Given the description of an element on the screen output the (x, y) to click on. 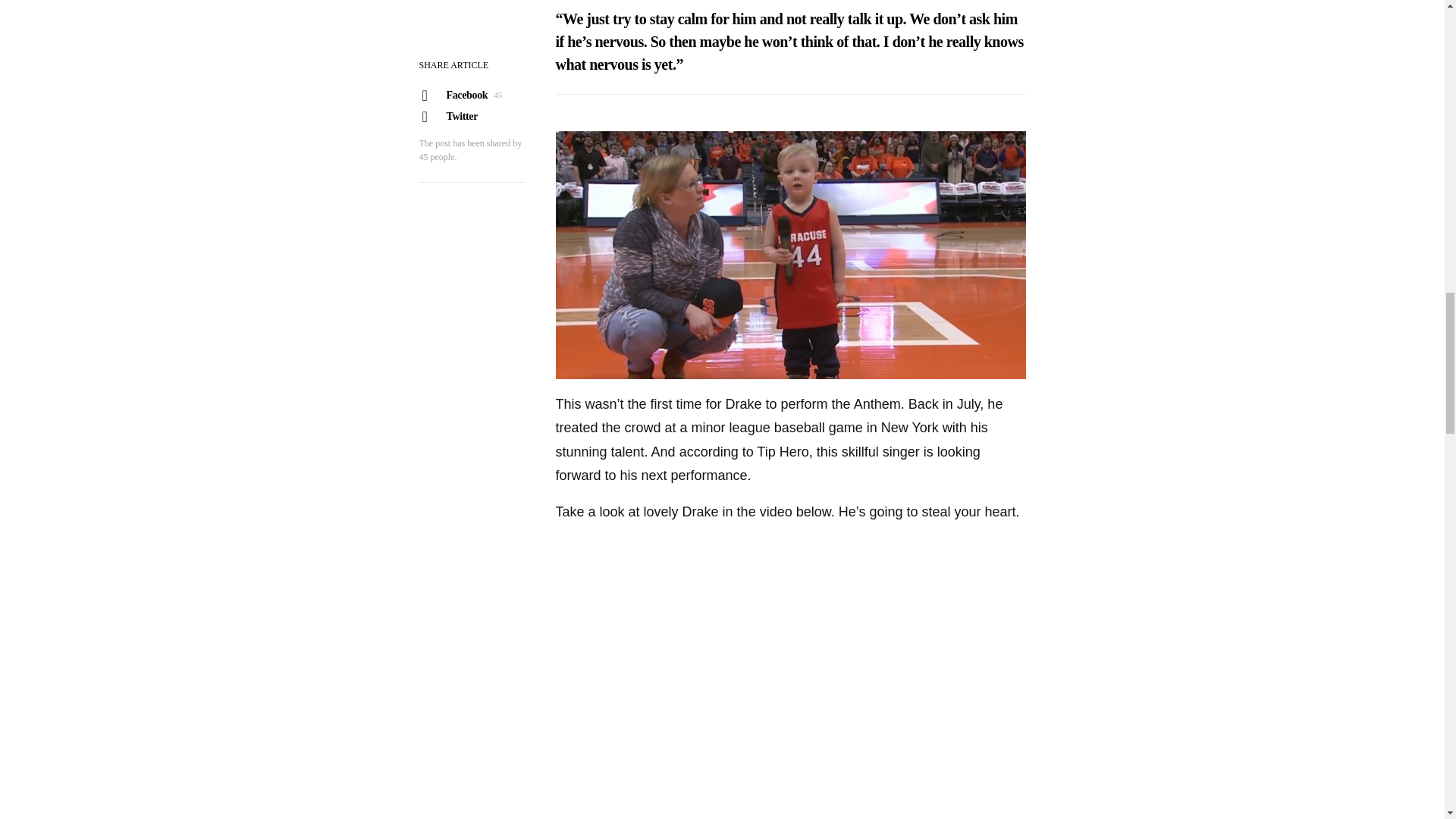
3-year-old National Anthem singer Drake Grillo (789, 668)
